Given the description of an element on the screen output the (x, y) to click on. 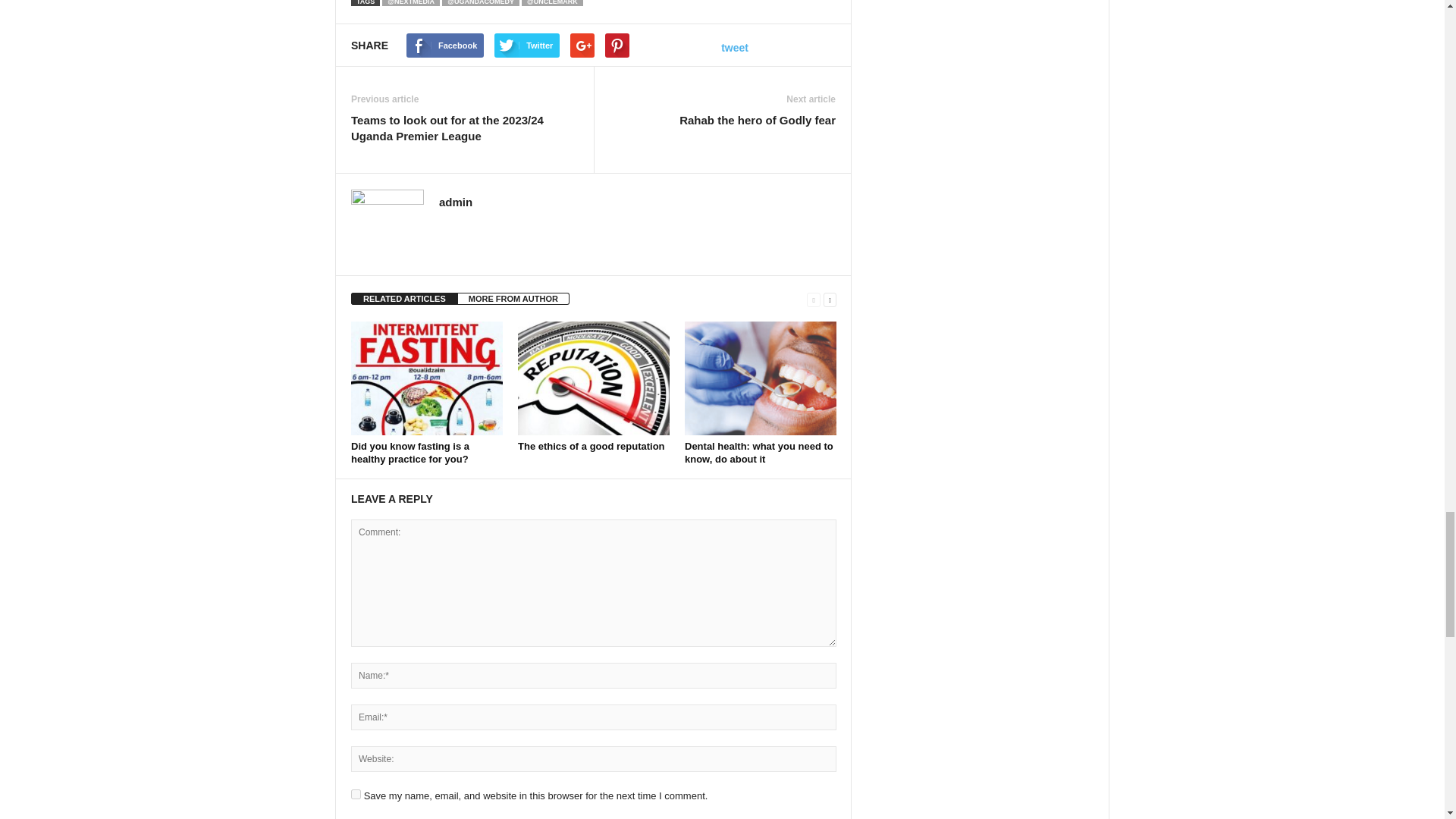
yes (355, 794)
